Given the description of an element on the screen output the (x, y) to click on. 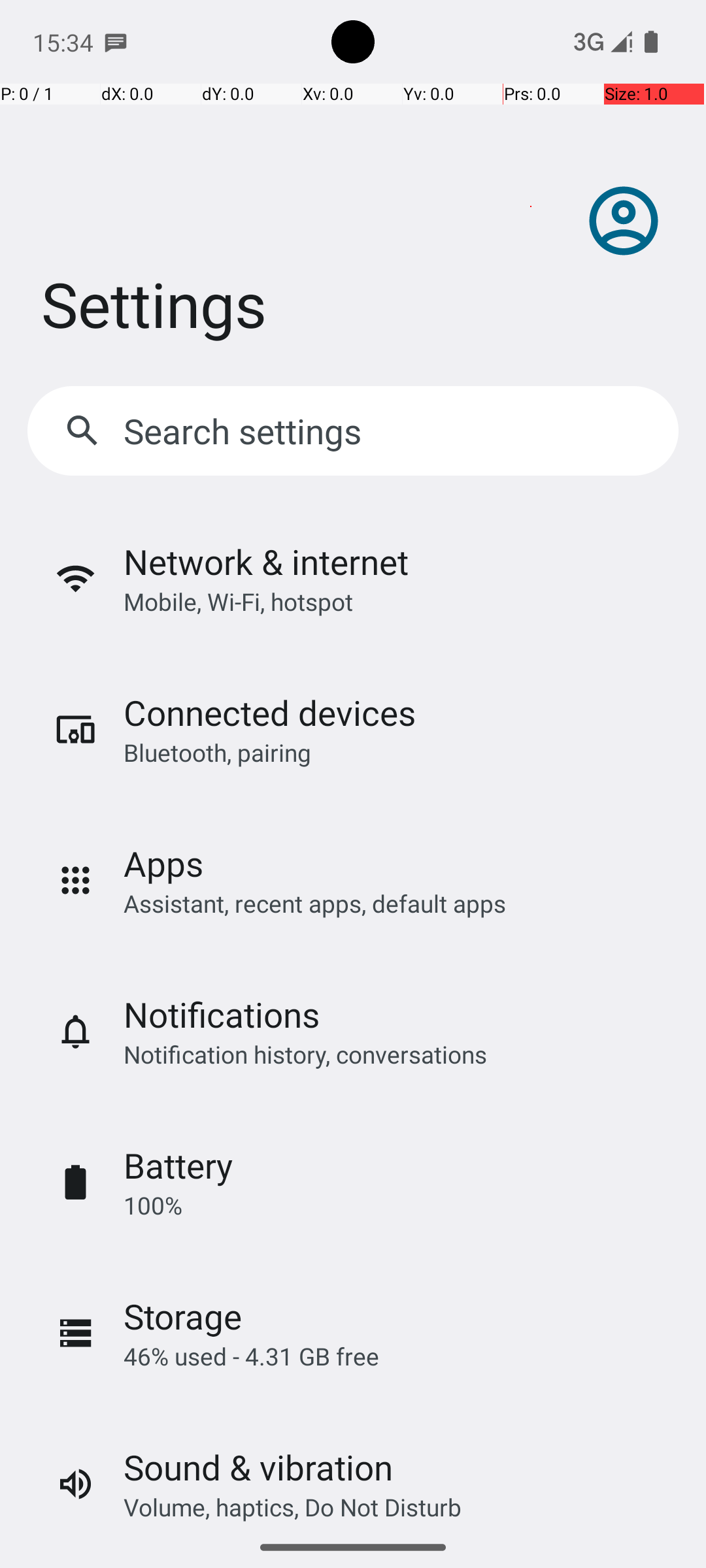
46% used - 4.31 GB free Element type: android.widget.TextView (251, 1355)
